Given the description of an element on the screen output the (x, y) to click on. 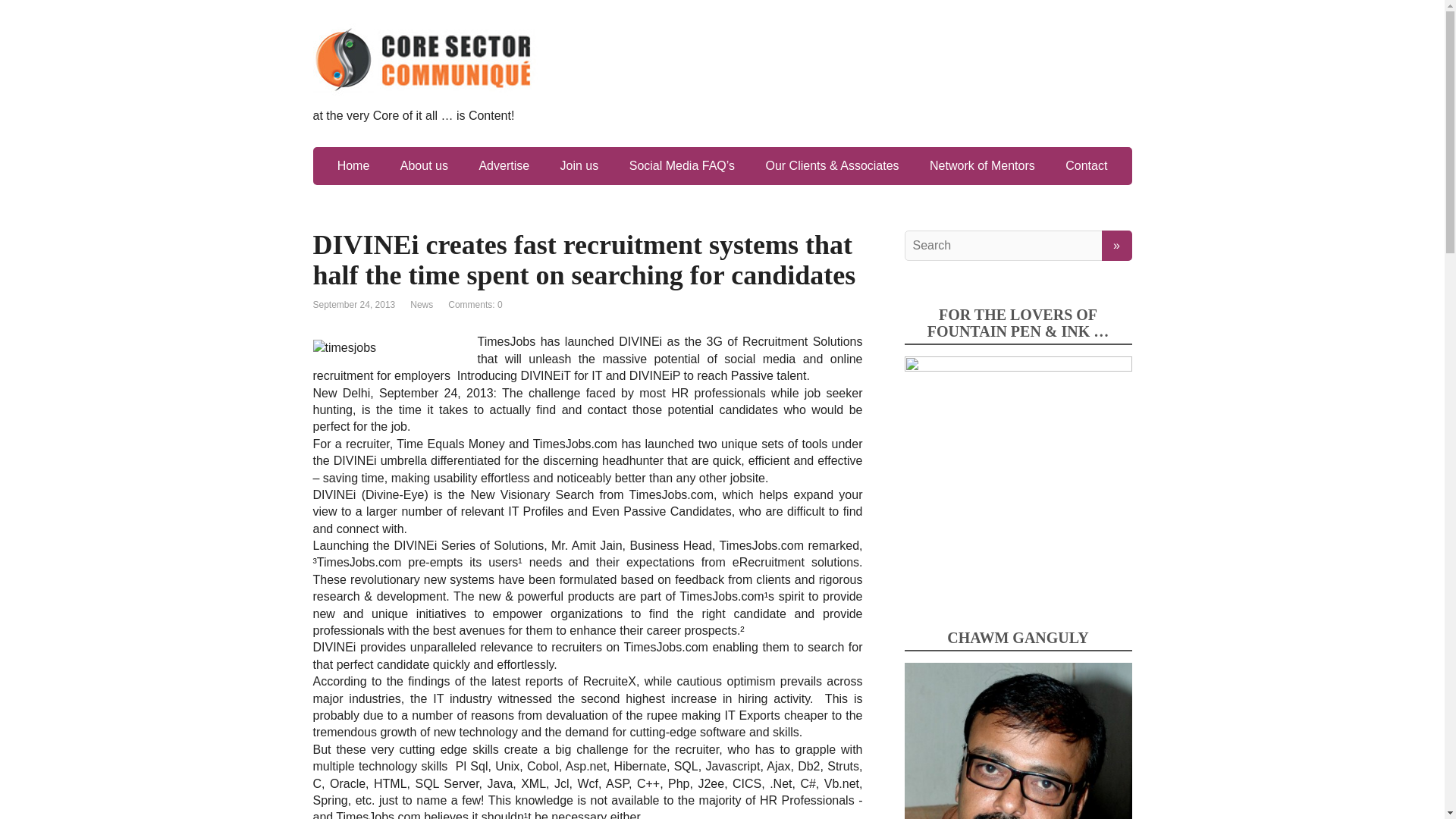
Network of Mentors (981, 166)
Home (353, 166)
About us (424, 166)
Join us (579, 166)
Comments: 0 (475, 304)
News (421, 304)
Contact (1086, 166)
Advertise (503, 166)
